Given the description of an element on the screen output the (x, y) to click on. 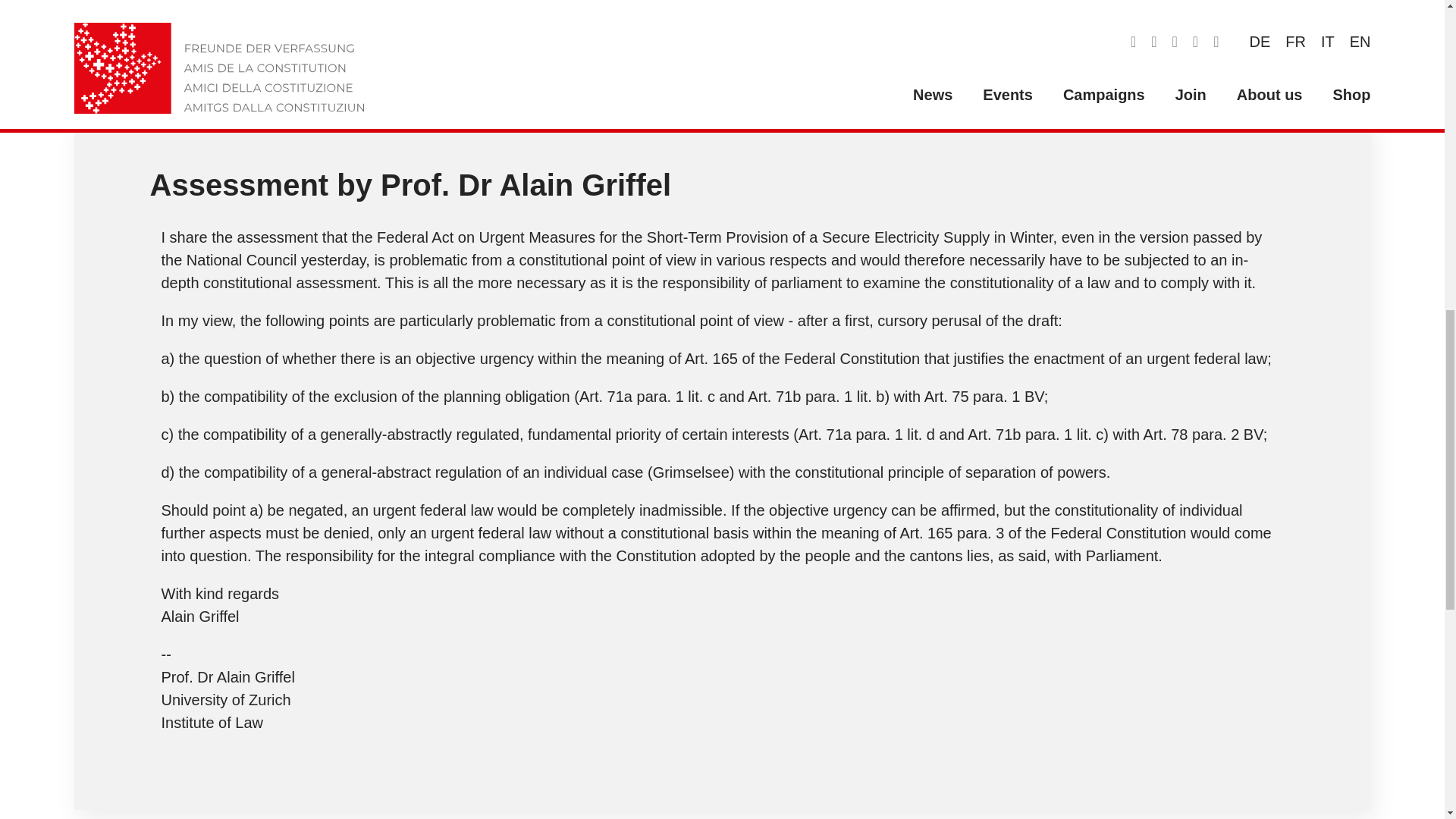
Parliamentarians (411, 18)
